Given the description of an element on the screen output the (x, y) to click on. 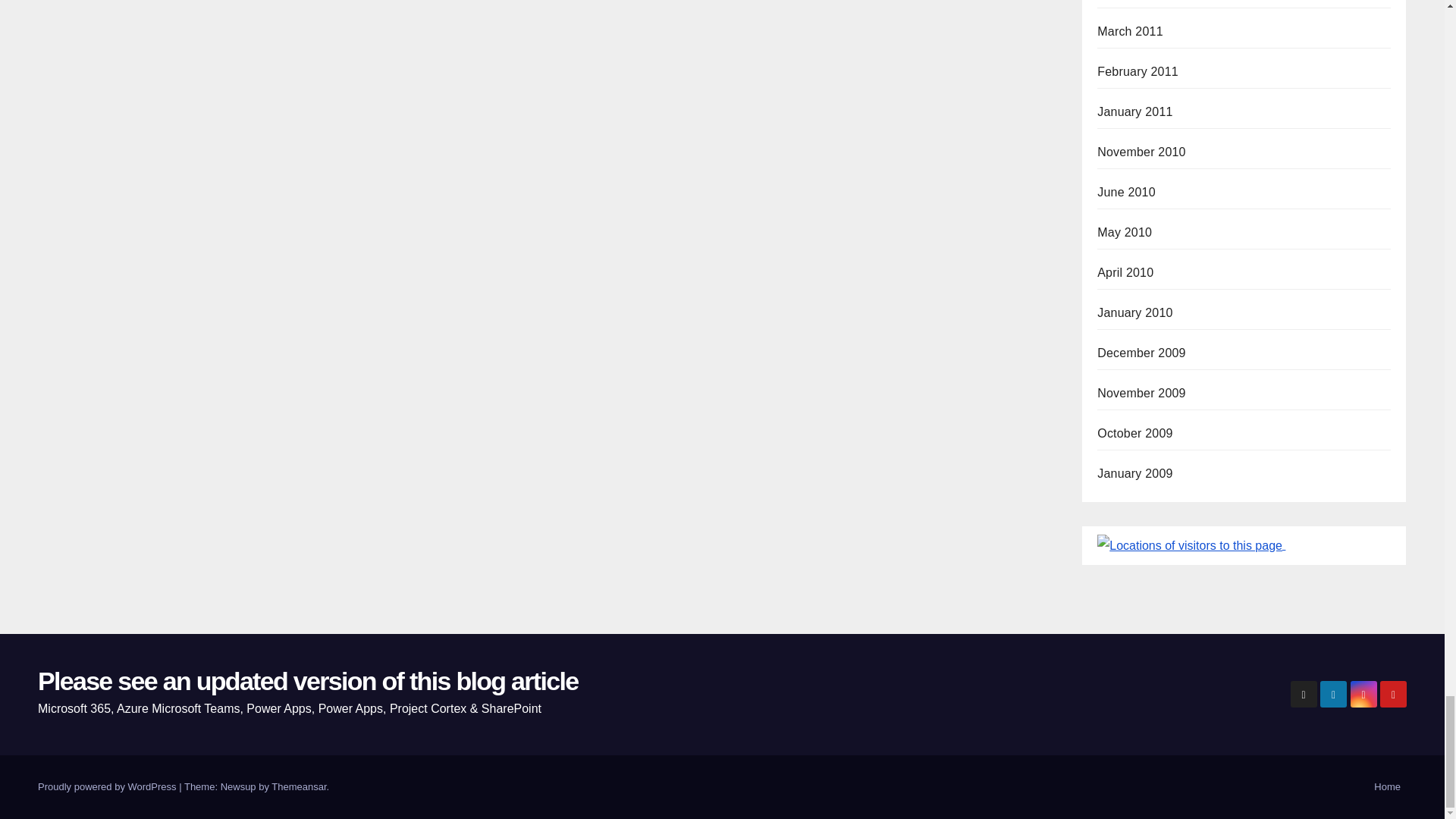
Home (1387, 786)
Locations of visitors to this page (1189, 545)
